Given the description of an element on the screen output the (x, y) to click on. 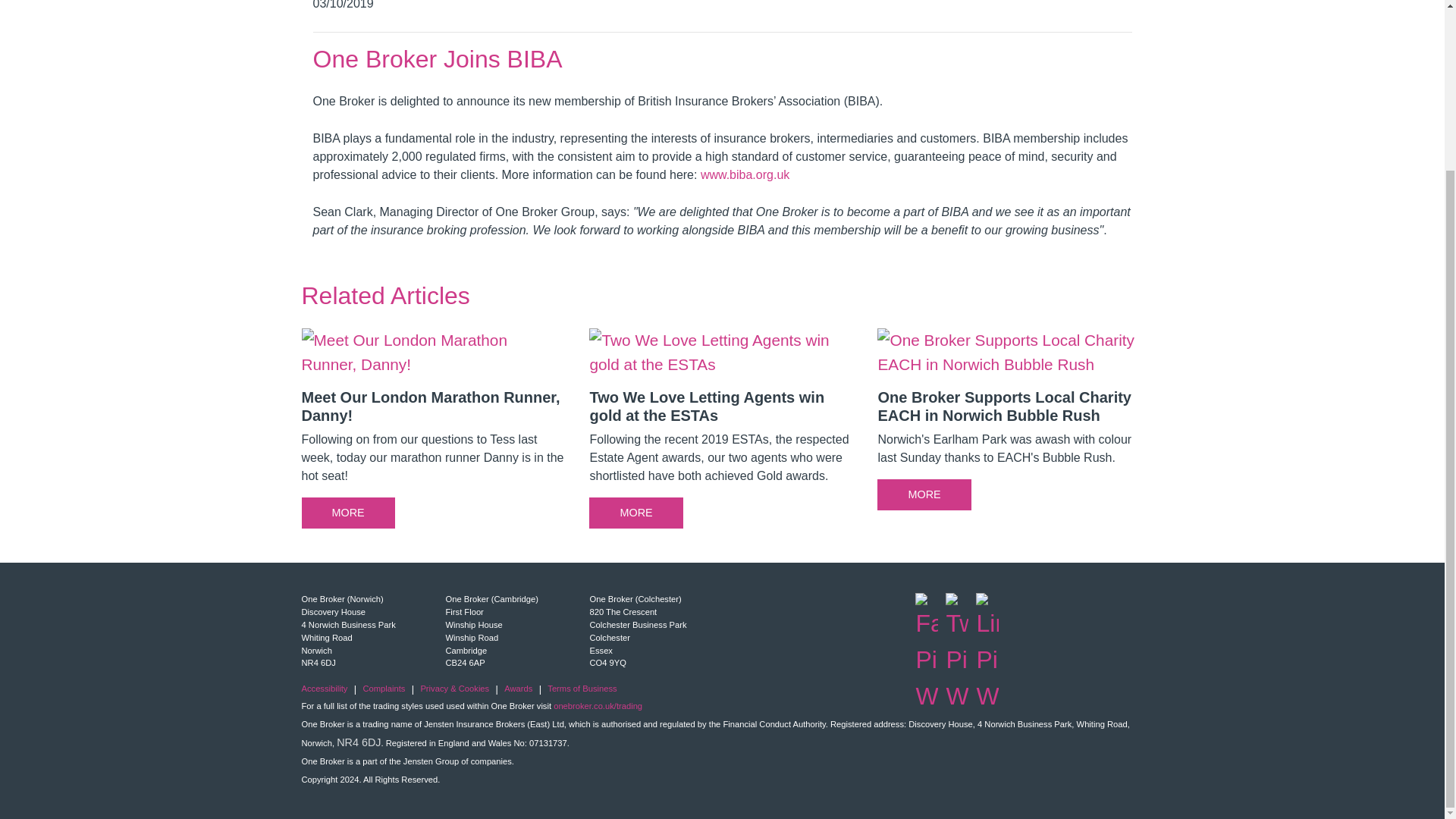
Meet Our London Marathon Runner, Danny! (434, 433)
BIBA website (744, 174)
Two We Love Letting Agents win gold at the ESTAs (721, 433)
Trading styles (597, 705)
